Given the description of an element on the screen output the (x, y) to click on. 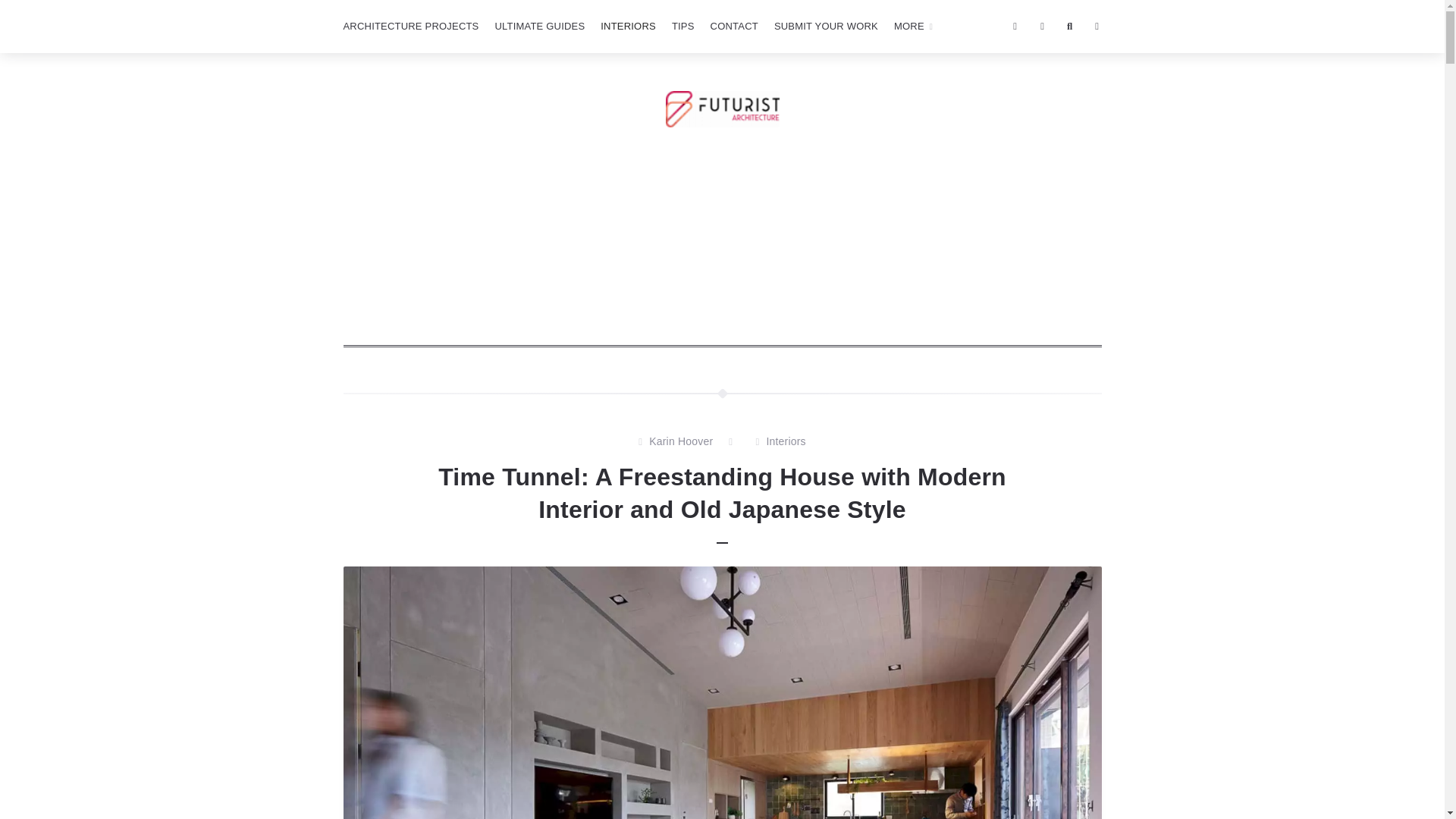
CONTACT (734, 26)
ARCHITECTURE PROJECTS (410, 26)
SUBMIT YOUR WORK (825, 26)
ULTIMATE GUIDES (539, 26)
Karin Hoover (681, 442)
TIPS (682, 26)
INTERIORS (628, 26)
Interiors (785, 442)
MORE (913, 26)
